Given the description of an element on the screen output the (x, y) to click on. 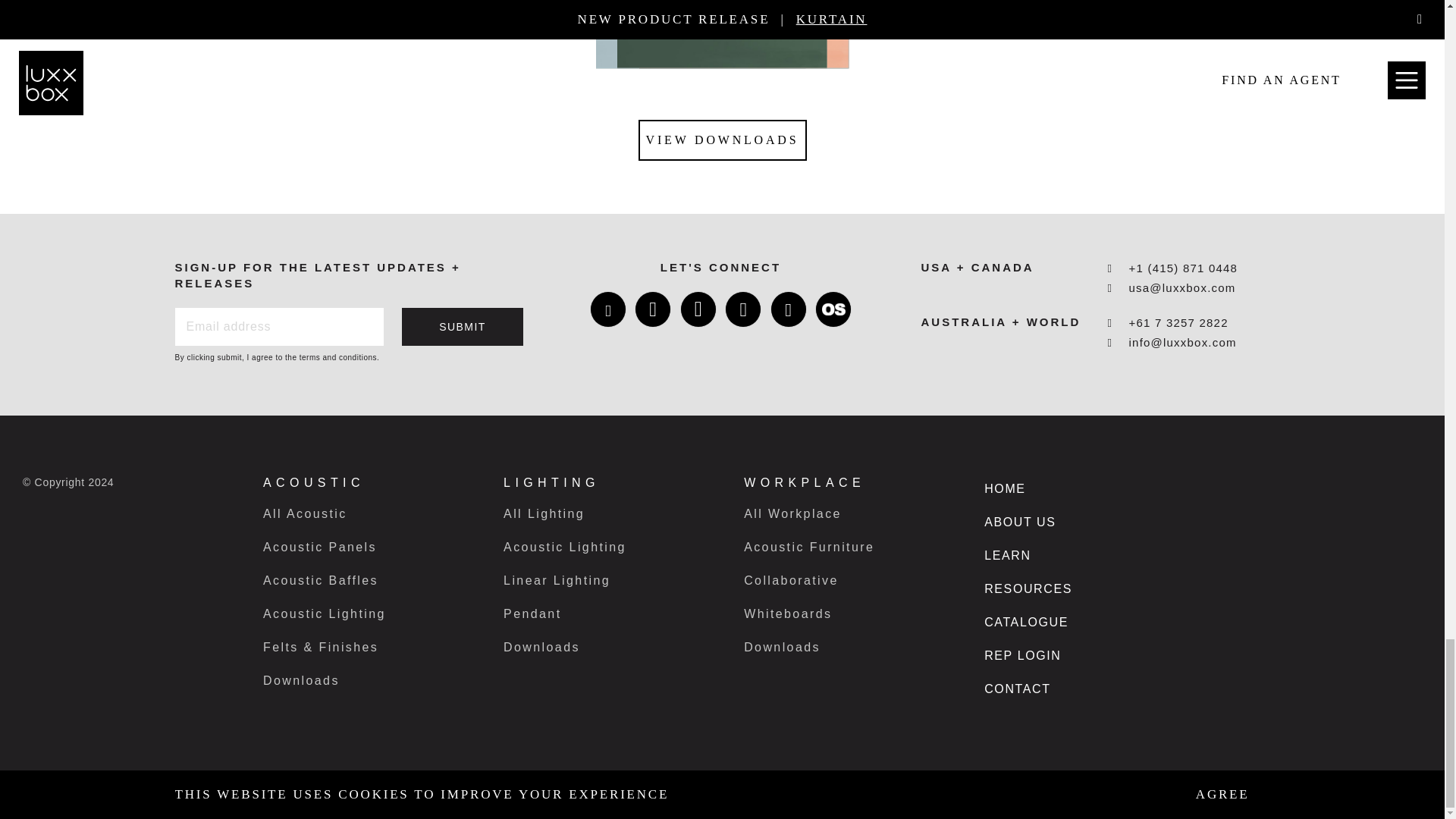
Submit (462, 326)
